Given the description of an element on the screen output the (x, y) to click on. 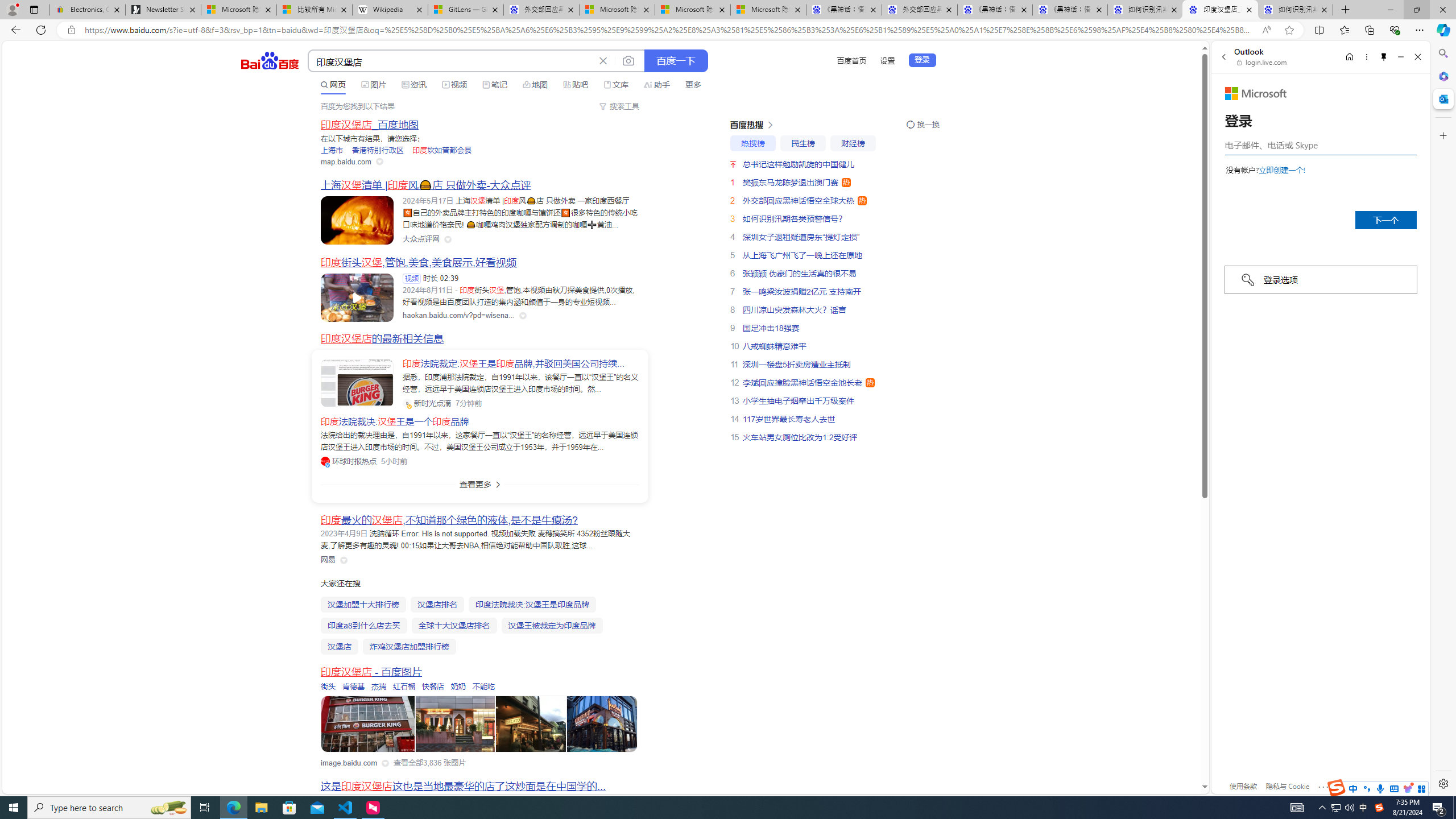
Close Outlook pane (1442, 98)
Class: c-img c-img-radius-large (356, 382)
